Given the description of an element on the screen output the (x, y) to click on. 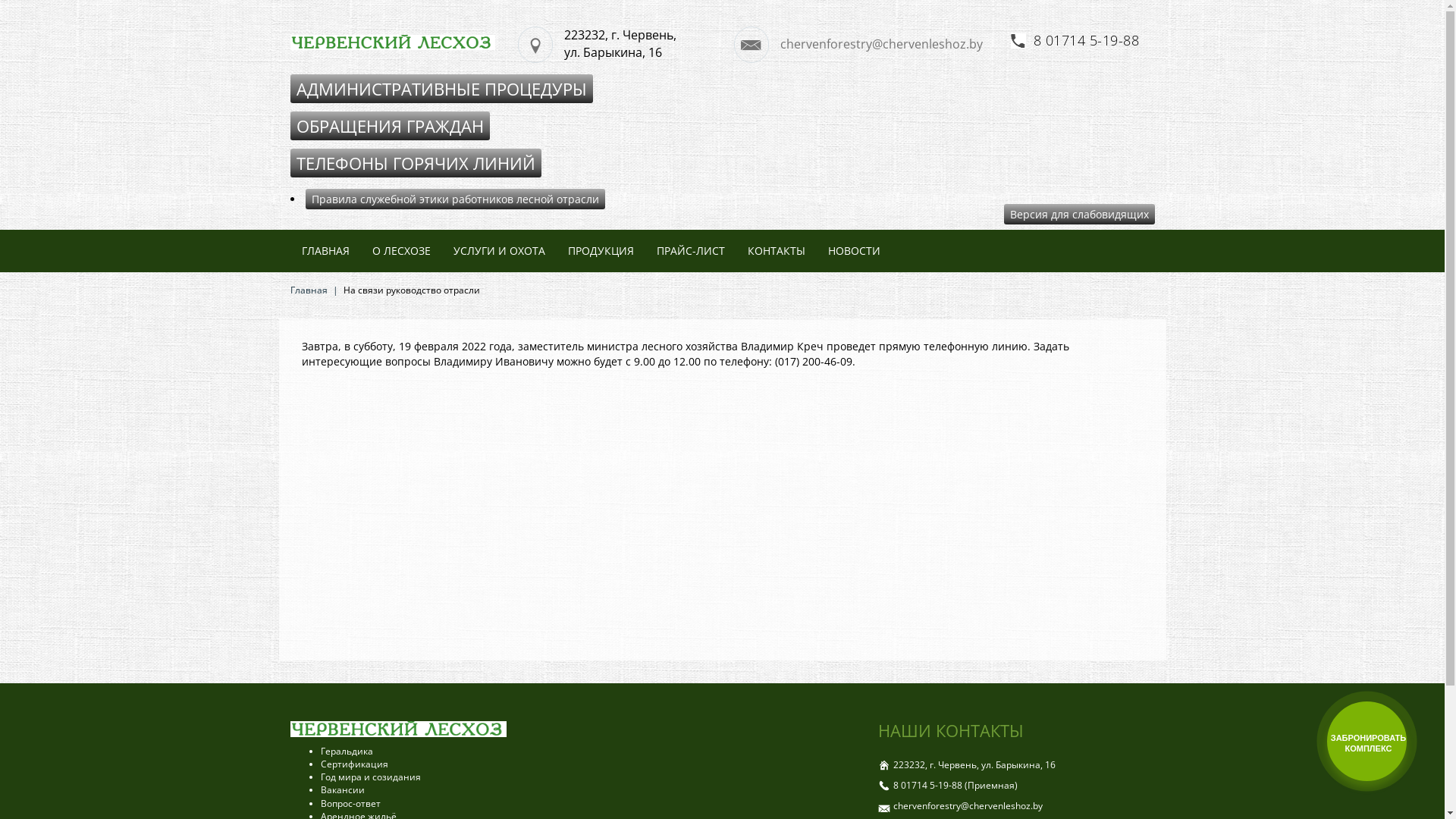
chervenforestry@chervenleshoz.by Element type: text (865, 44)
